Given the description of an element on the screen output the (x, y) to click on. 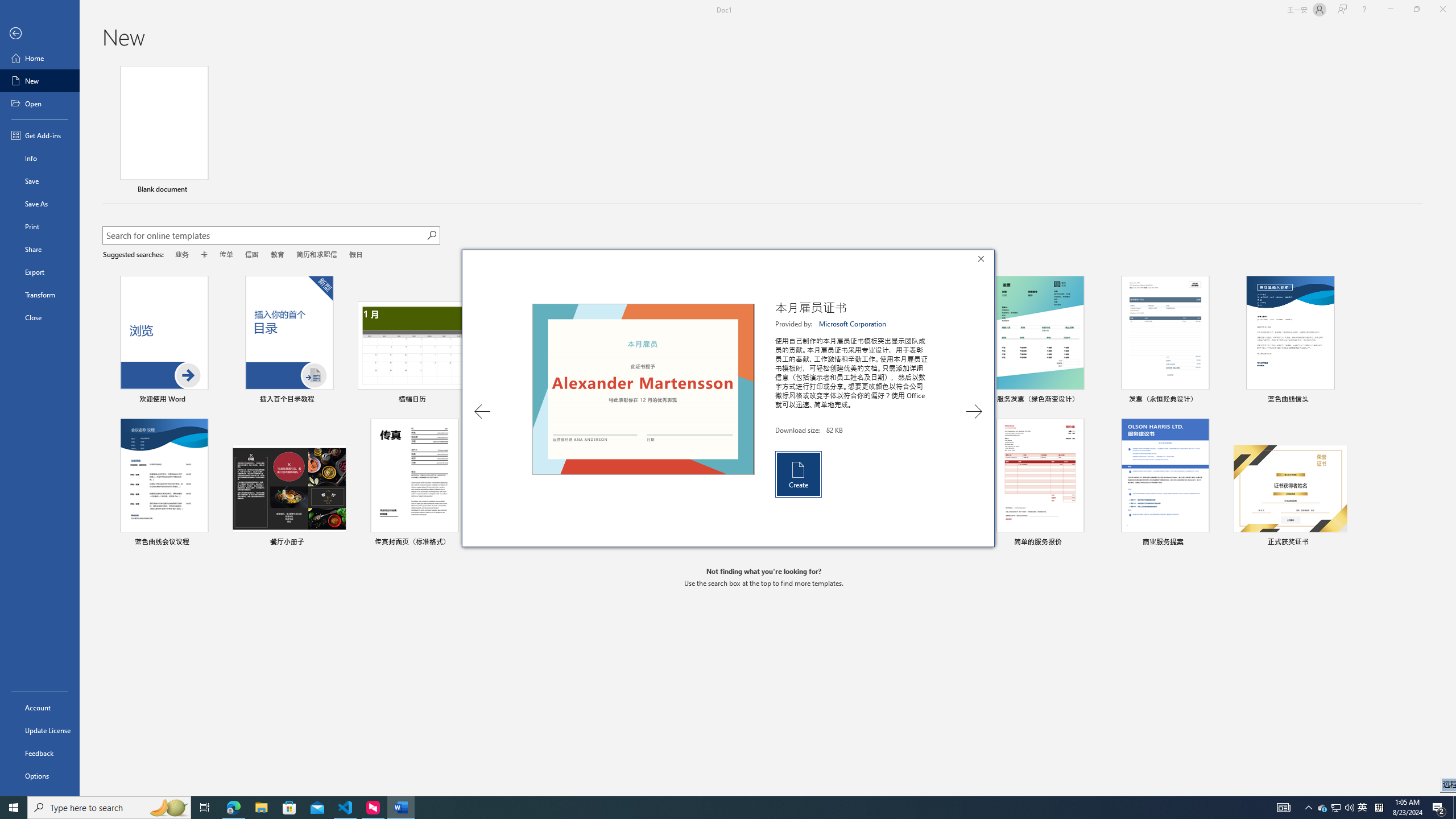
Type here to search (108, 807)
New (40, 80)
Account (40, 707)
Back (40, 33)
Blank document (164, 131)
Preview (643, 389)
Class: NetUIScrollBar (1362, 807)
Create (1450, 428)
Start searching (797, 474)
